Given the description of an element on the screen output the (x, y) to click on. 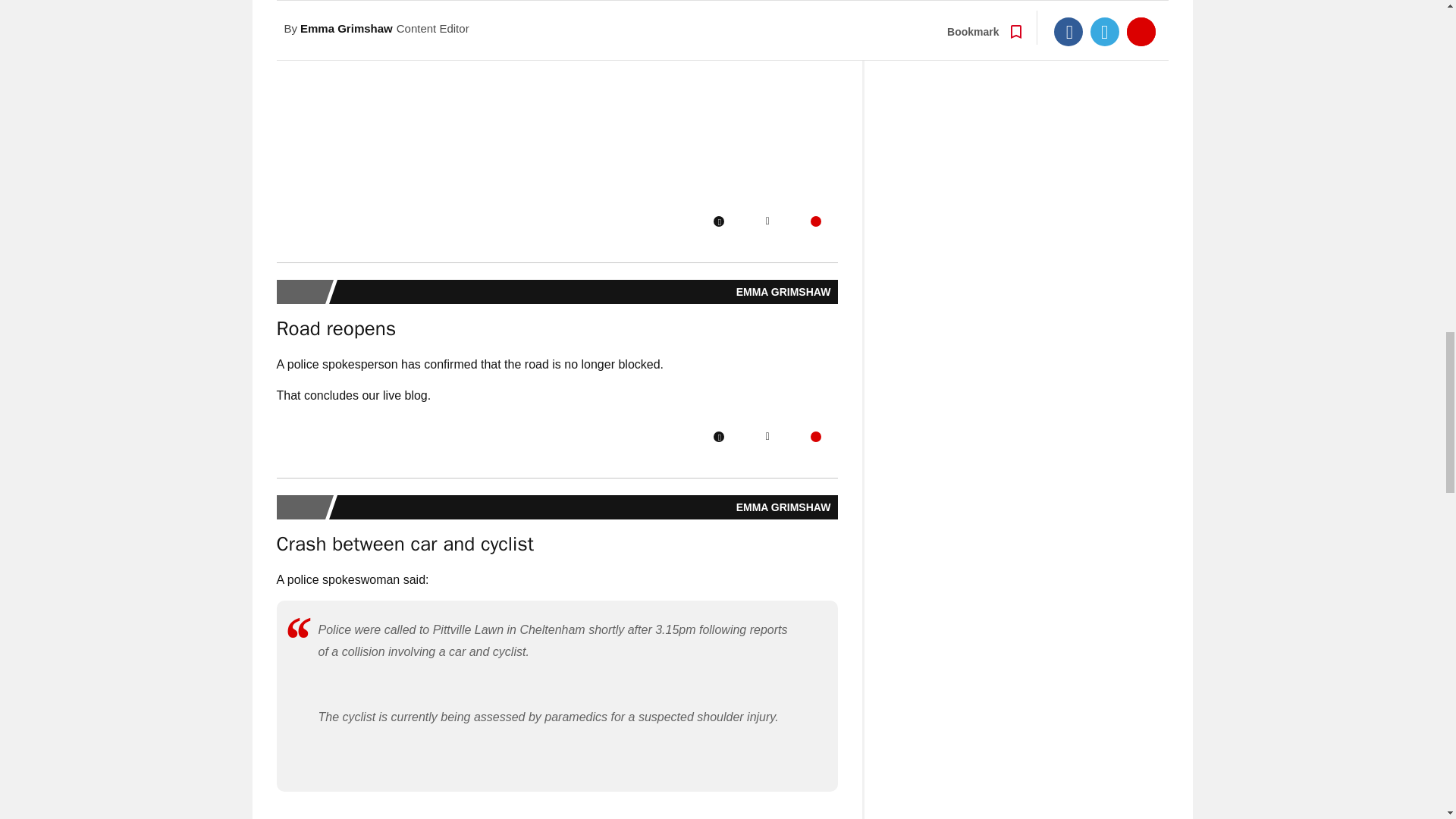
Gloucestershire news straight to your inbox (557, 99)
Twitter (767, 221)
Facebook (718, 221)
Twitter (767, 436)
Facebook (718, 436)
